Given the description of an element on the screen output the (x, y) to click on. 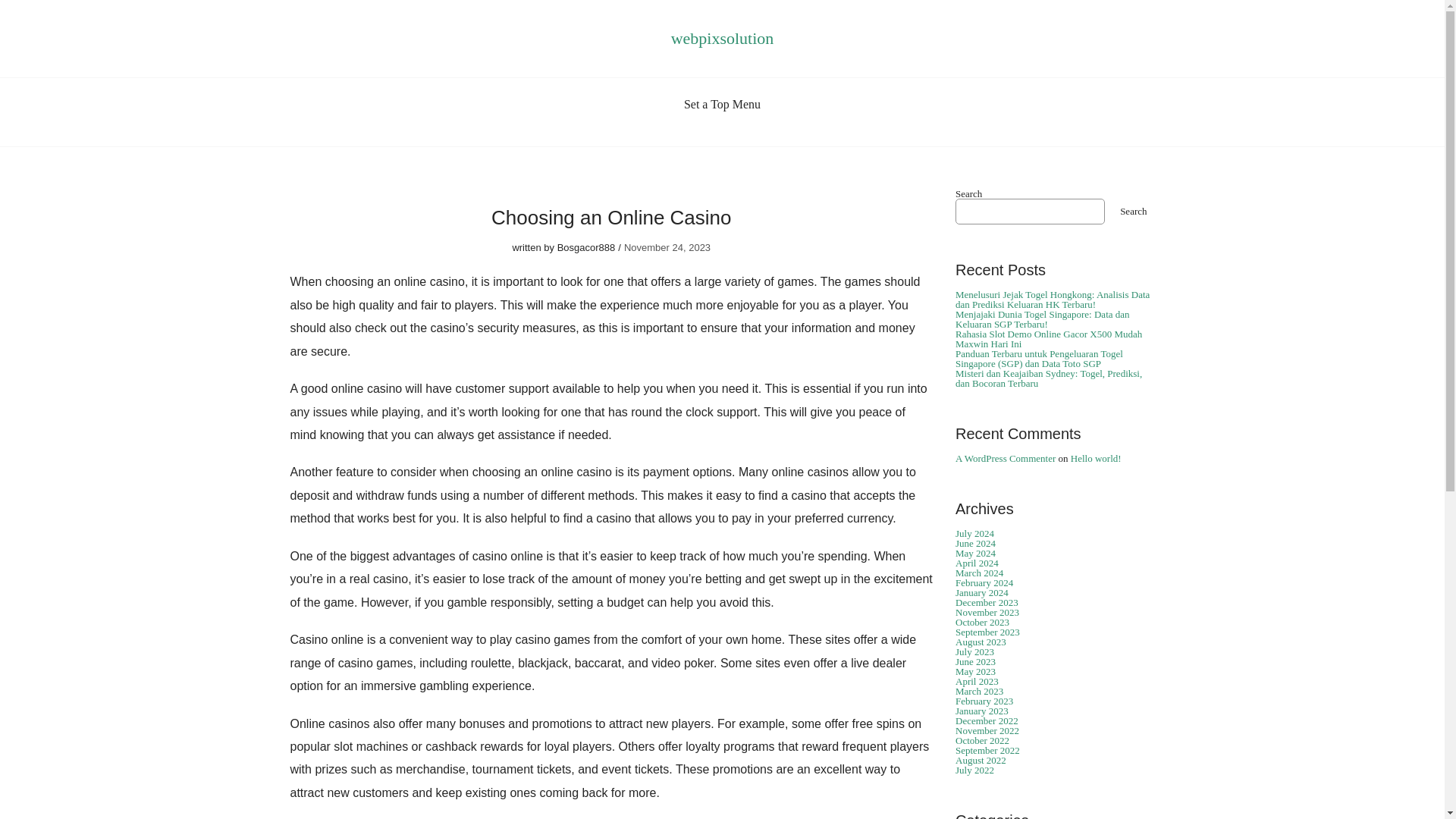
January 2023 (982, 710)
July 2023 (974, 651)
January 2024 (982, 592)
November 24, 2023 (667, 247)
November 2022 (987, 730)
August 2023 (980, 641)
August 2022 (980, 759)
February 2023 (984, 700)
July 2024 (974, 532)
December 2022 (986, 720)
Rahasia Slot Demo Online Gacor X500 Mudah Maxwin Hari Ini (1048, 338)
April 2023 (976, 681)
December 2023 (986, 602)
